Given the description of an element on the screen output the (x, y) to click on. 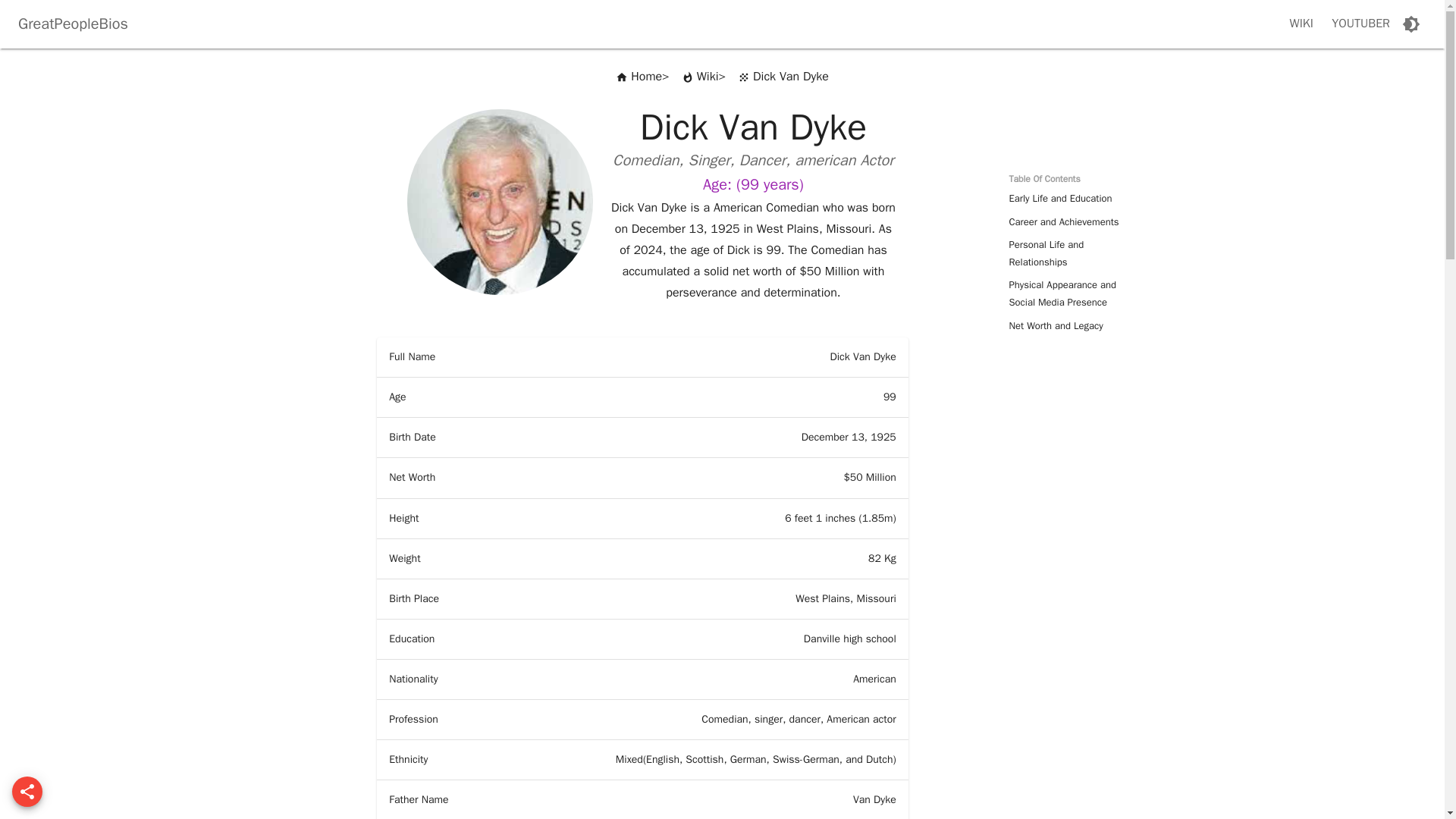
Physical Appearance and Social Media Presence (1066, 293)
GreatPeopleBios (72, 24)
WIKI (1300, 24)
Net Worth and Legacy (1066, 325)
Wiki (700, 76)
Career and Achievements (1066, 221)
YOUTUBER (1360, 24)
Personal Life and Relationships (1066, 253)
Early Life and Education (1066, 199)
Home (638, 76)
